Given the description of an element on the screen output the (x, y) to click on. 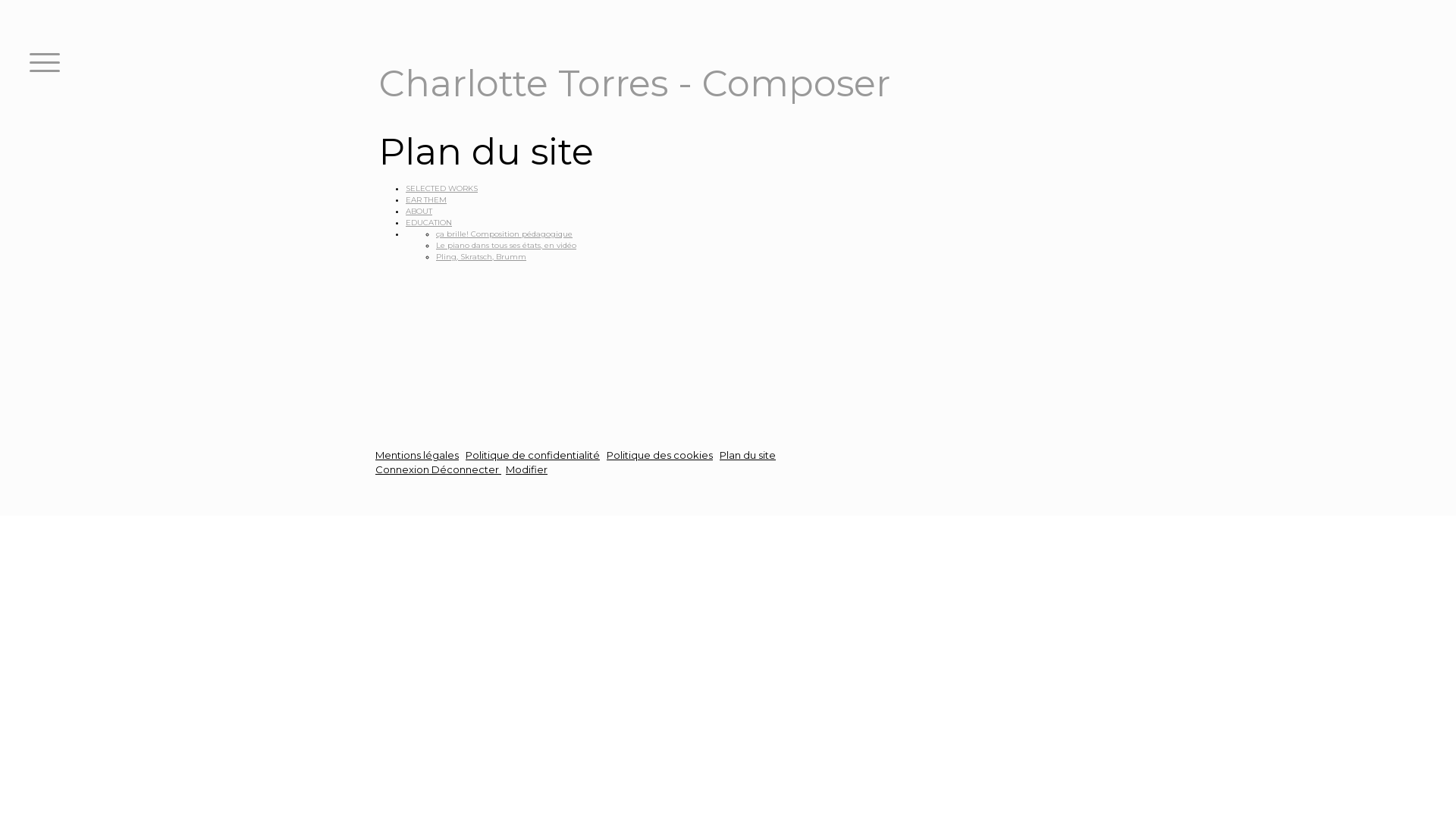
Charlotte Torres - Composer Element type: text (634, 91)
Connexion Element type: text (403, 469)
Pling, Skratsch, Brumm Element type: text (481, 256)
EAR THEM Element type: text (425, 199)
SELECTED WORKS Element type: text (441, 188)
Plan du site Element type: text (747, 454)
Politique des cookies Element type: text (659, 454)
EDUCATION Element type: text (428, 222)
Modifier Element type: text (526, 469)
ABOUT Element type: text (418, 211)
